Given the description of an element on the screen output the (x, y) to click on. 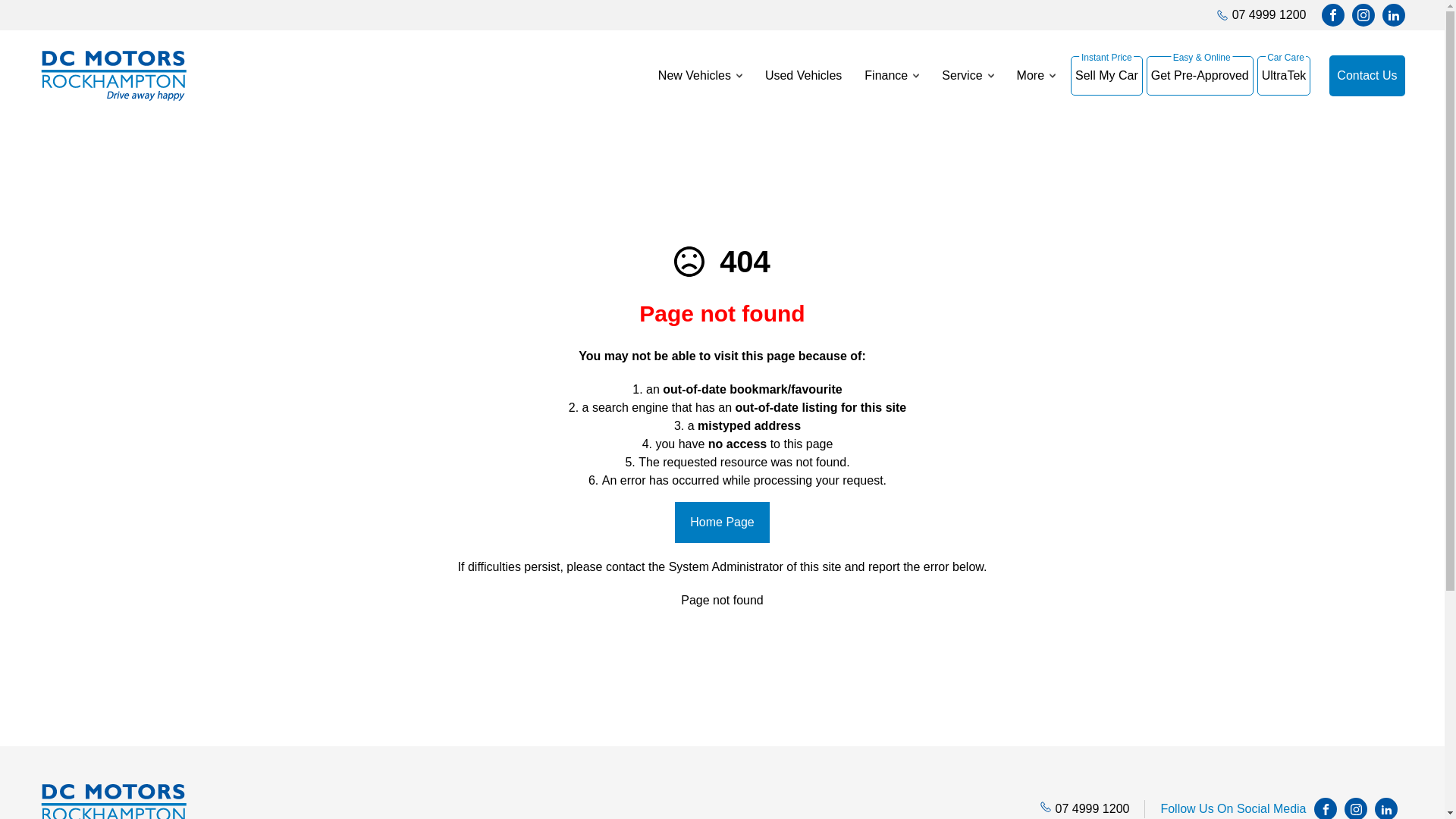
Contact Us Element type: text (1366, 75)
More Element type: text (1035, 75)
UltraTek Element type: text (1284, 75)
Sell My Car Element type: text (1106, 75)
New Vehicles Element type: text (694, 75)
Used Vehicles Element type: text (803, 75)
07 4999 1200 Element type: text (1269, 15)
Finance Element type: text (891, 75)
Service Element type: text (967, 75)
Home Page Element type: text (721, 522)
Get Pre-Approved Element type: text (1199, 75)
07 4999 1200 Element type: text (1092, 808)
